Given the description of an element on the screen output the (x, y) to click on. 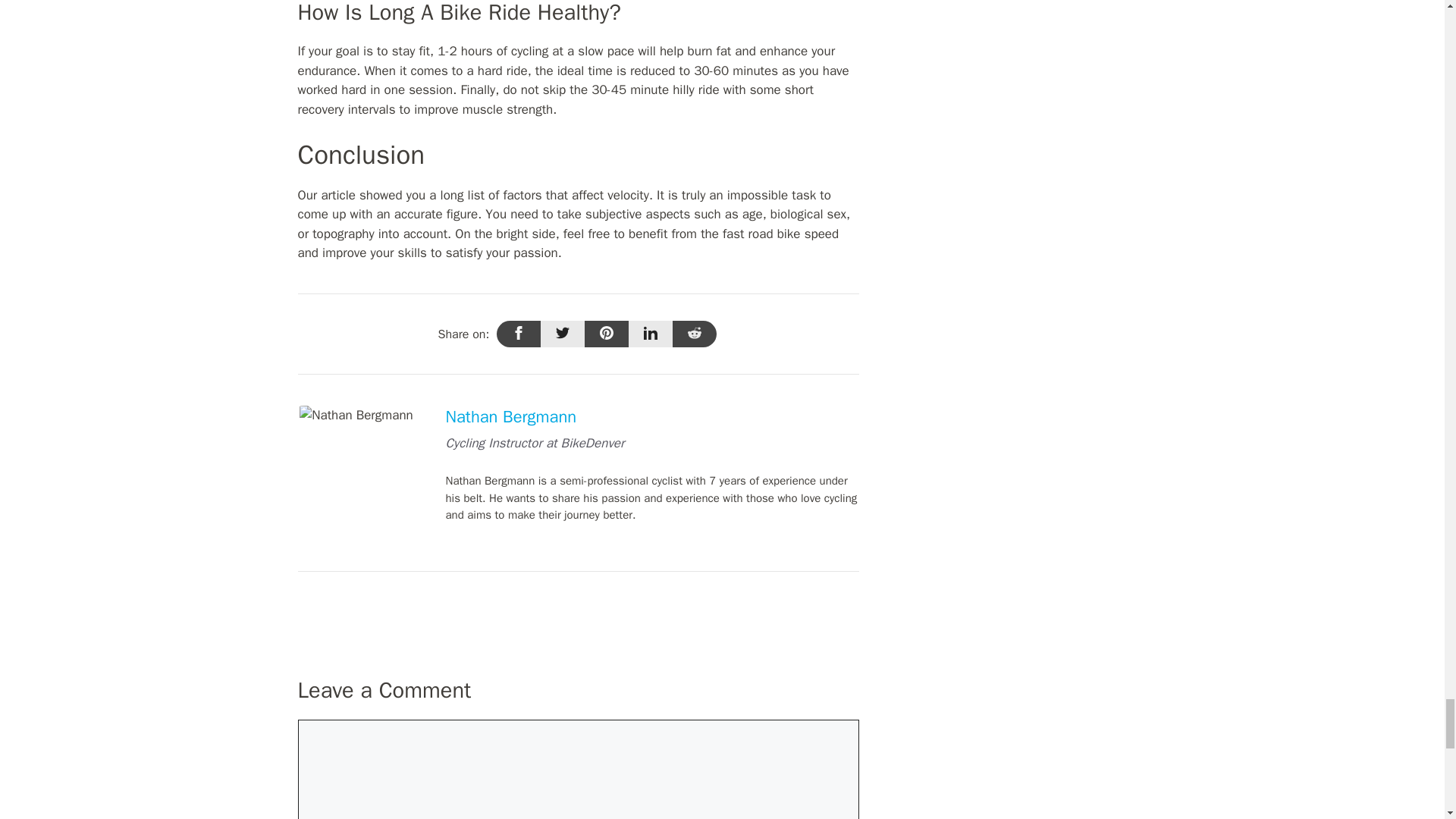
Nathan Bergmann (355, 415)
Nathan Bergmann (510, 416)
